Given the description of an element on the screen output the (x, y) to click on. 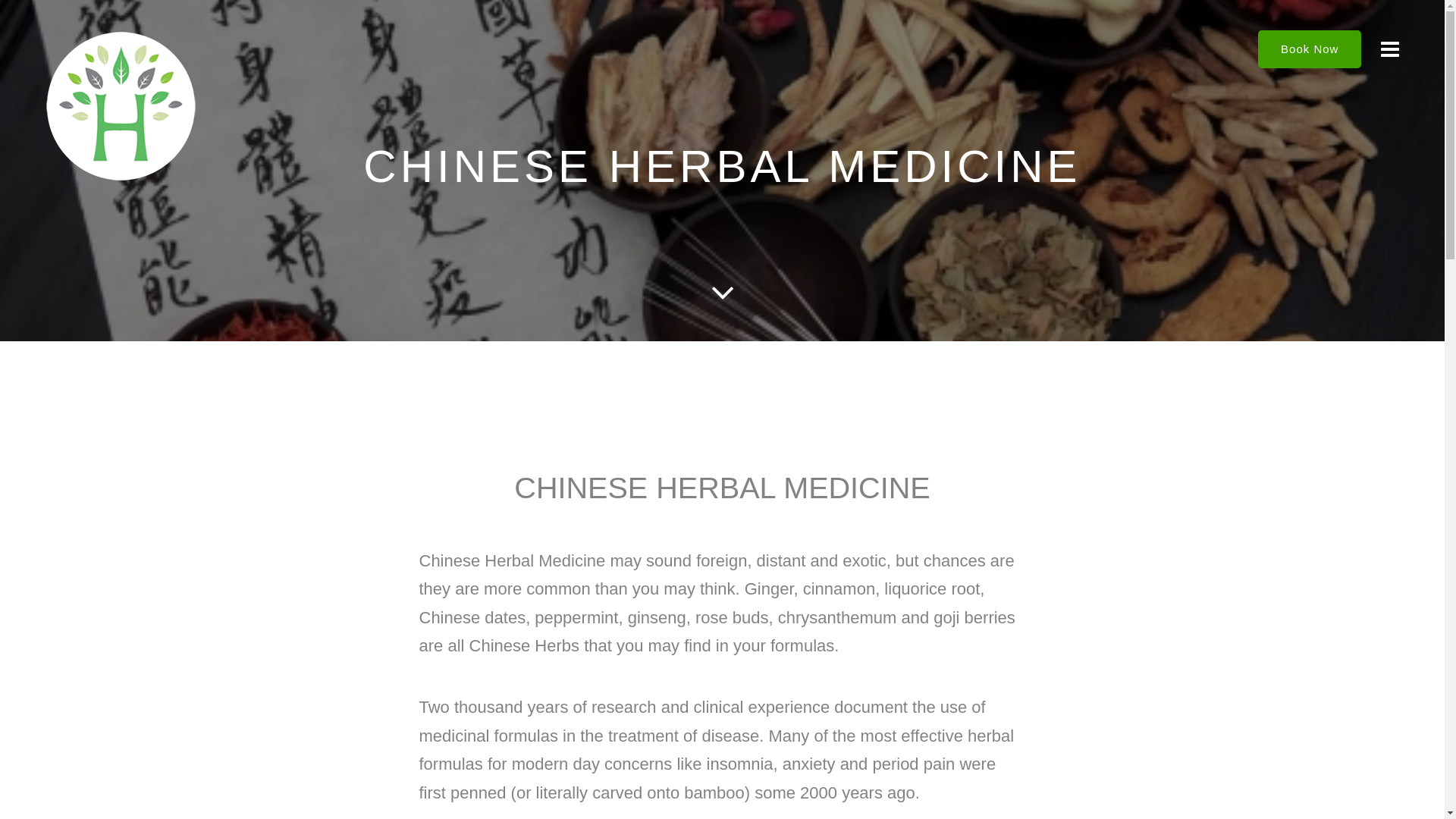
Book Now Element type: text (1309, 49)
